Given the description of an element on the screen output the (x, y) to click on. 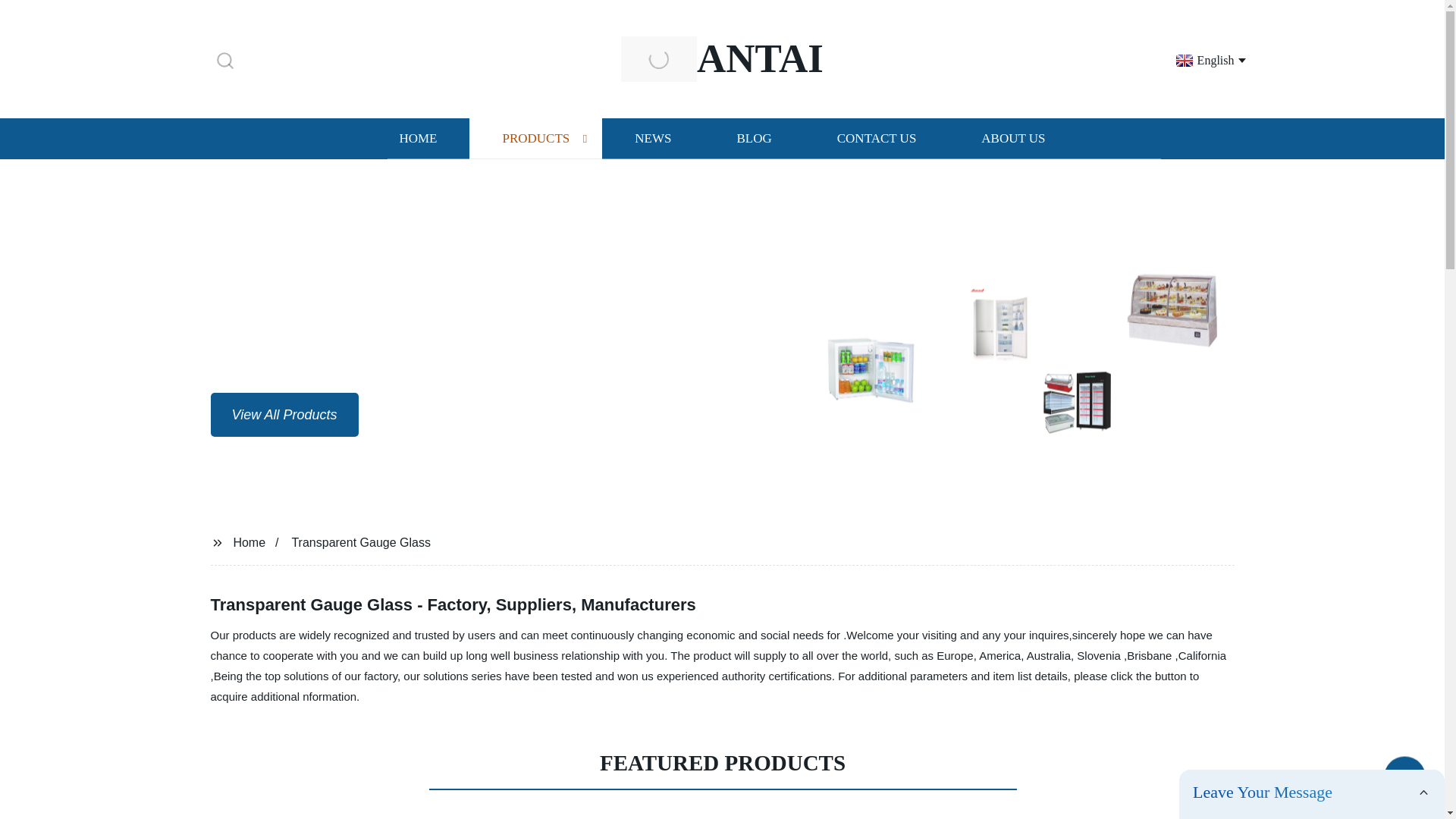
Transparent Gauge Glass (360, 541)
English (1203, 59)
English (1203, 59)
NEWS (652, 137)
BLOG (753, 137)
PRODUCTS (535, 137)
Home (248, 541)
ABOUT US (1013, 137)
Top (1404, 779)
HOME (417, 137)
